Given the description of an element on the screen output the (x, y) to click on. 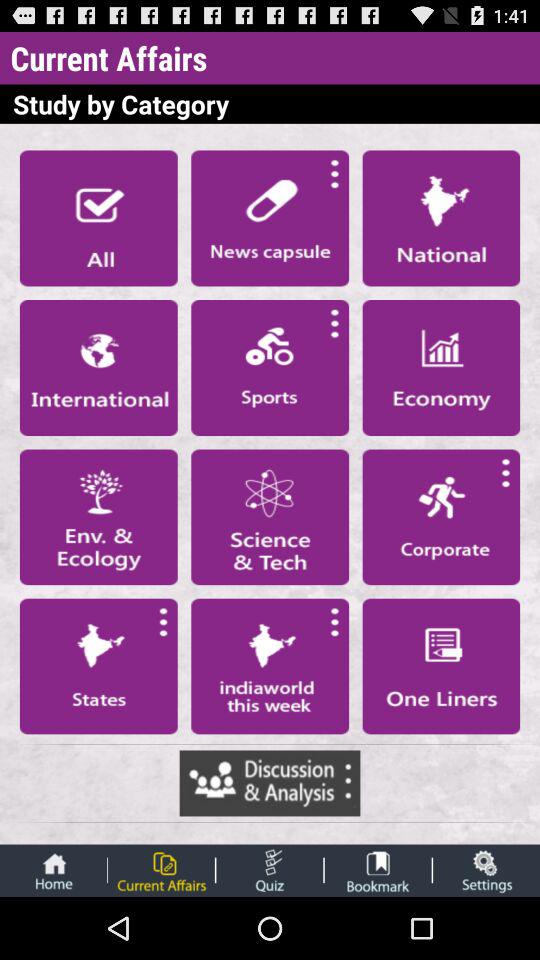
indiaworld this week category (270, 666)
